Given the description of an element on the screen output the (x, y) to click on. 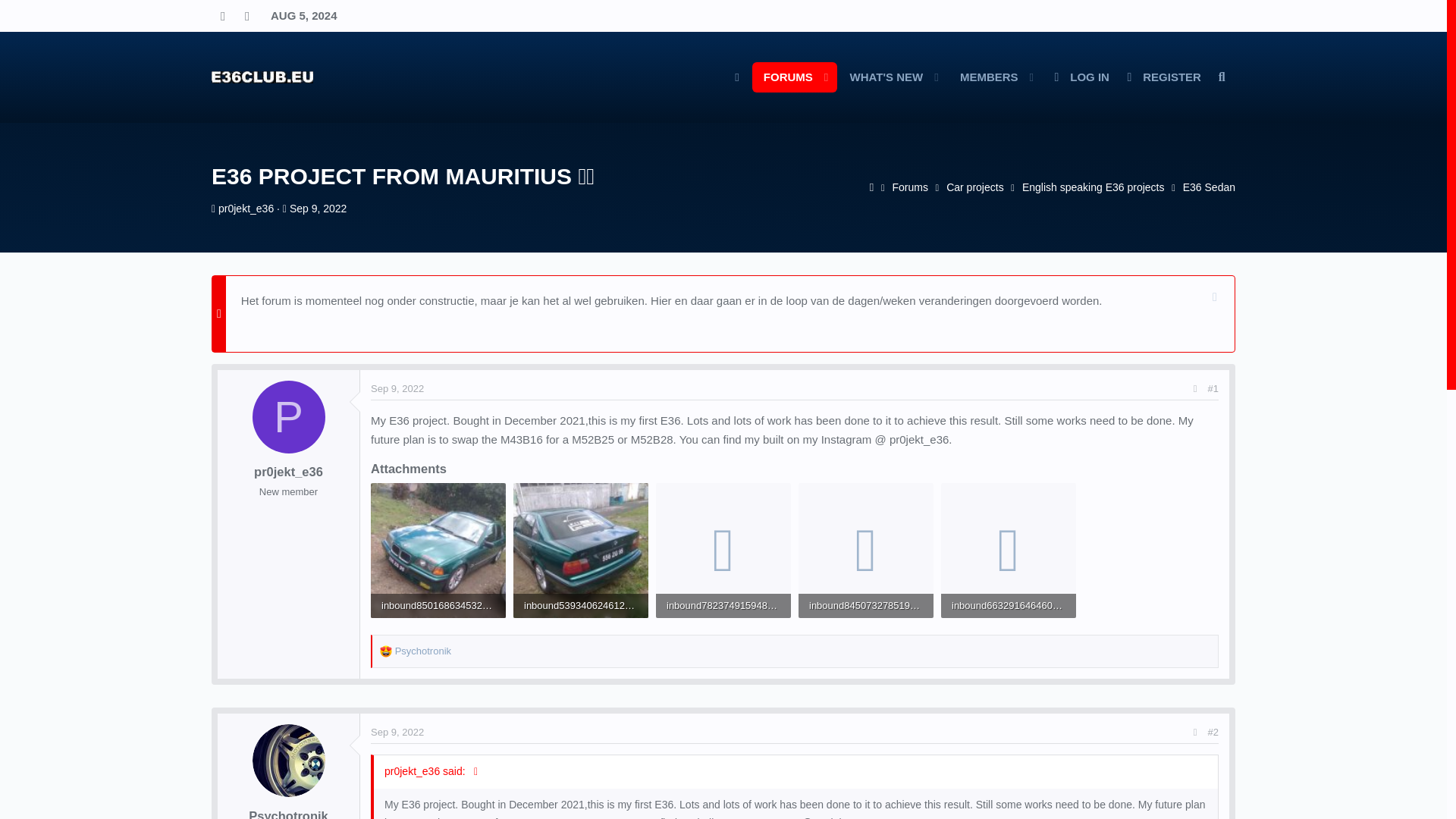
inbound6632916464600862065.jpg (1008, 606)
Love (385, 651)
inbound5393406246123658605.jpg (686, 77)
Sep 9, 2022 (580, 606)
inbound8501686345321005503.jpg (318, 208)
Car projects (438, 606)
REGISTER (974, 186)
FORUMS (1161, 77)
inbound8450732785194523517.jpg (783, 77)
Sep 9, 2022 at 9:07 AM (866, 606)
Sep 9, 2022 at 9:07 AM (318, 208)
Sep 9, 2022 at 10:08 AM (397, 388)
English speaking E36 projects (397, 731)
